Given the description of an element on the screen output the (x, y) to click on. 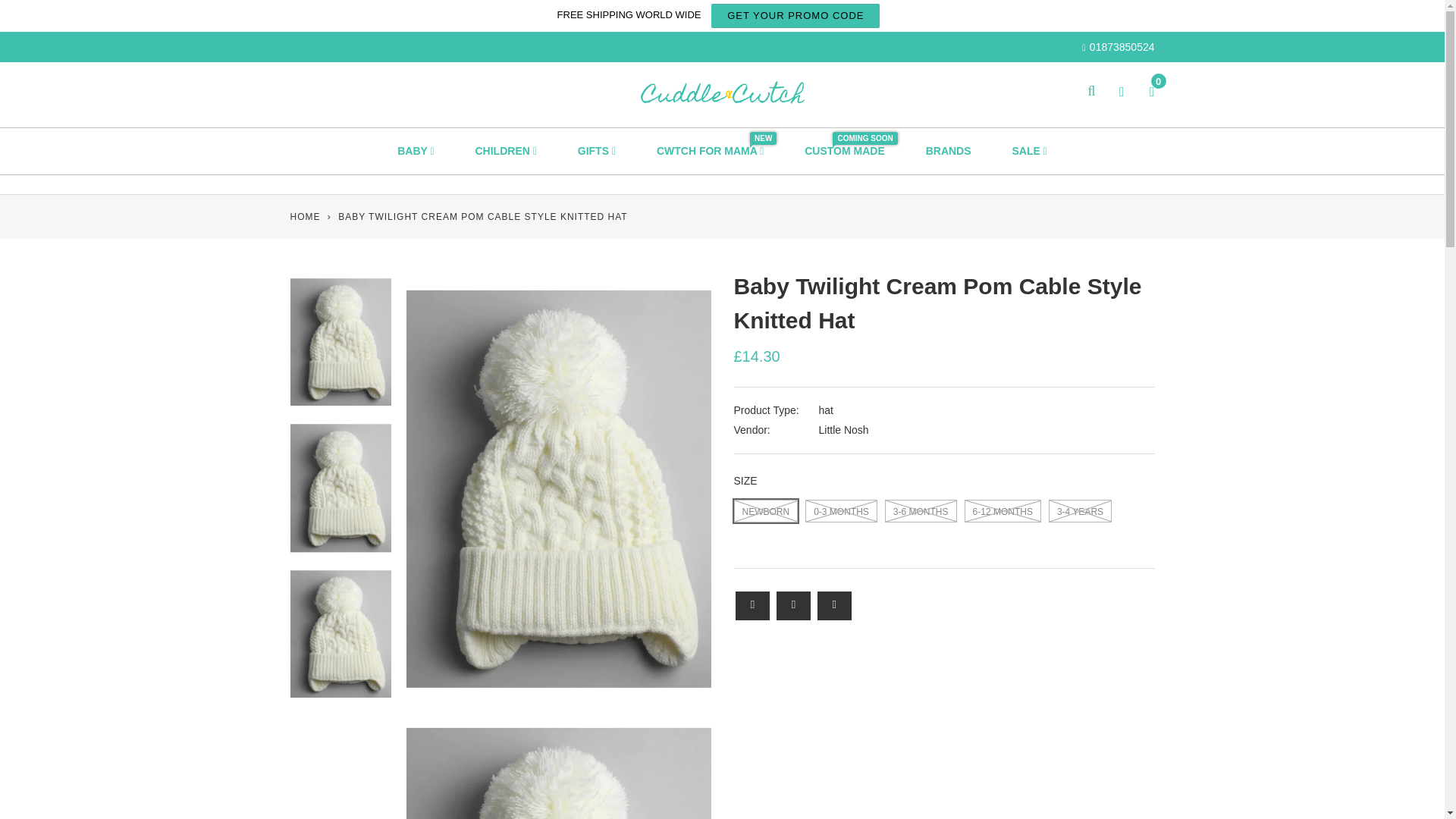
01873850524 (1117, 46)
GET YOUR PROMO CODE (795, 15)
CHILDREN (506, 150)
BABY (415, 150)
